Given the description of an element on the screen output the (x, y) to click on. 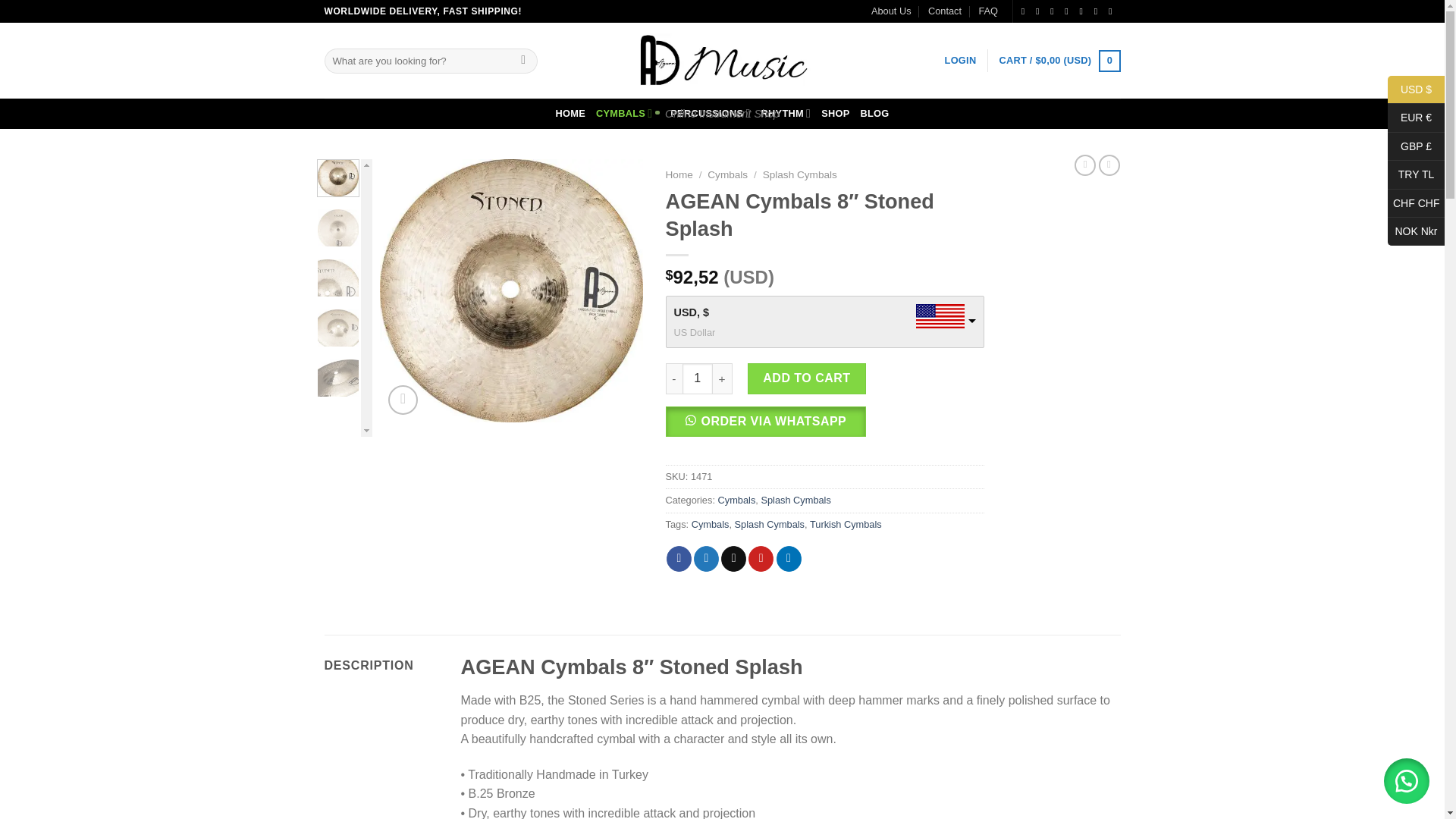
PERCUSSIONS (709, 112)
RHYTHM (785, 112)
Share on Facebook (678, 558)
CYMBALS (627, 112)
1 (697, 378)
Search (523, 61)
Share on Twitter (706, 558)
About Us (890, 11)
Agean Music - Online Instrument Shop (722, 60)
HOME (570, 113)
Cart (1058, 61)
Contact (944, 11)
Zoom (402, 399)
LOGIN (960, 60)
